Given the description of an element on the screen output the (x, y) to click on. 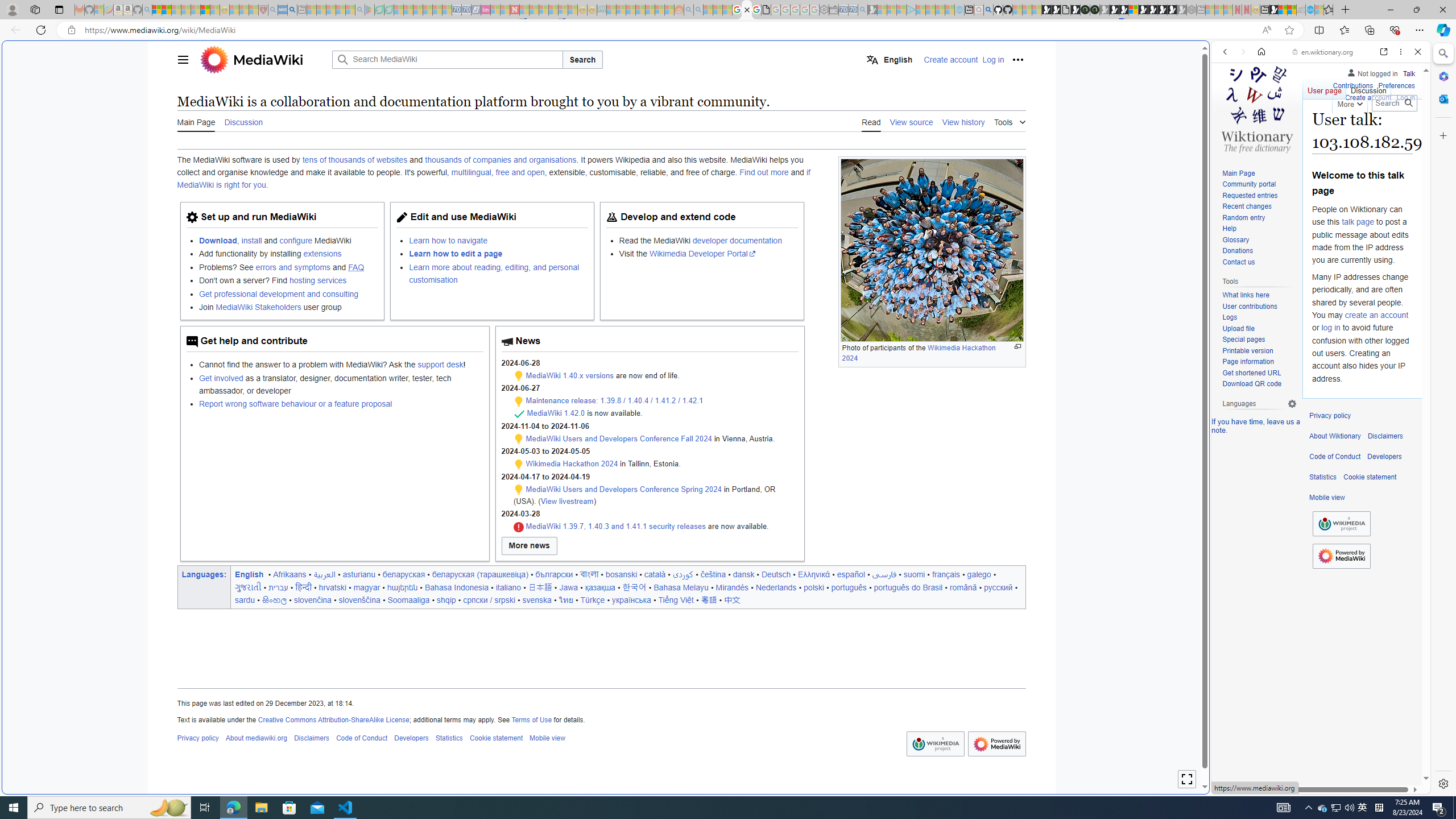
Deutsch (775, 574)
Languages: (204, 574)
shqip (445, 599)
Developers (1384, 456)
log in (1330, 327)
Sign in to your account (1133, 9)
